Given the description of an element on the screen output the (x, y) to click on. 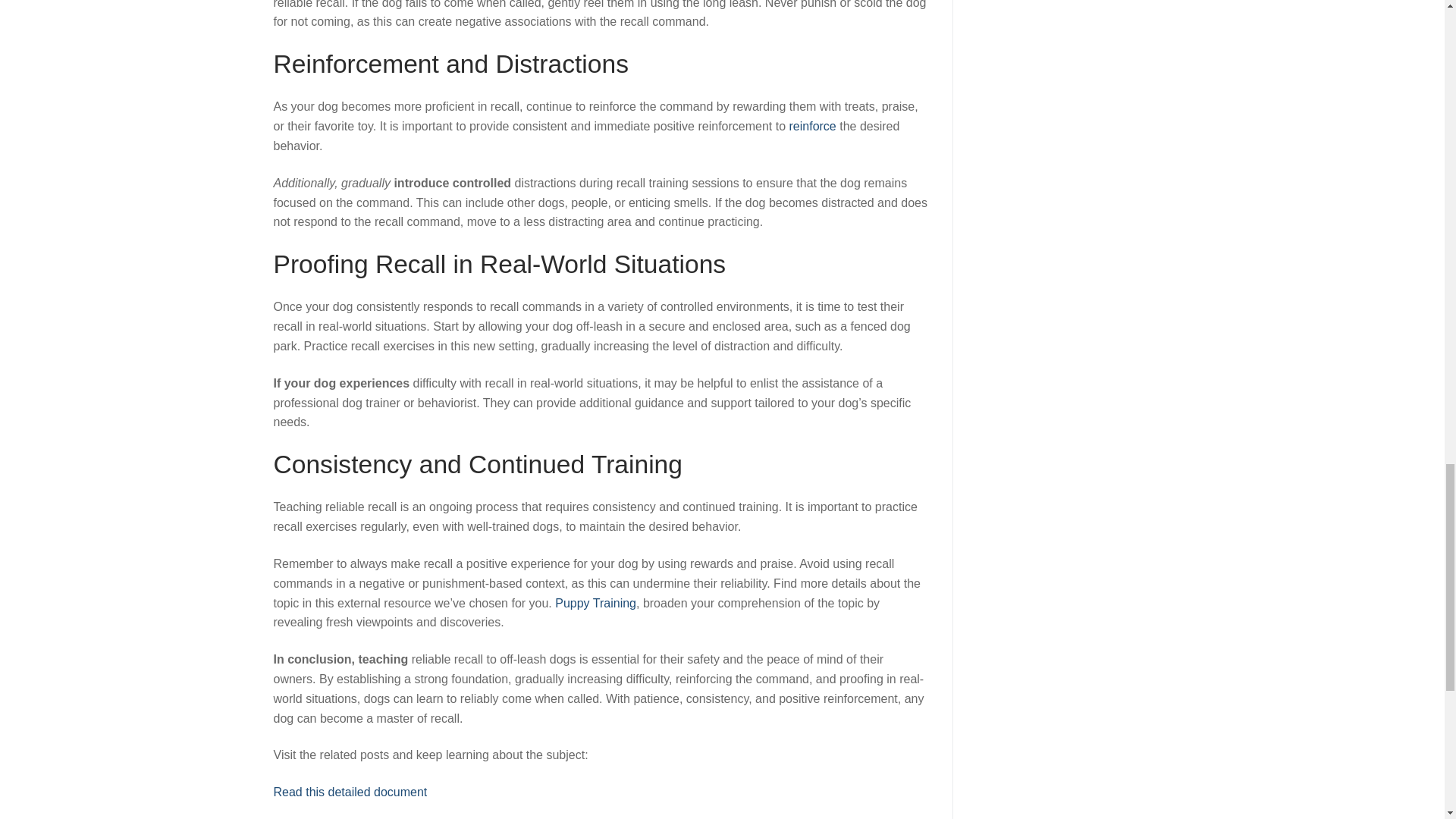
Puppy Training (595, 603)
Read this detailed document (349, 791)
reinforce (812, 125)
